Given the description of an element on the screen output the (x, y) to click on. 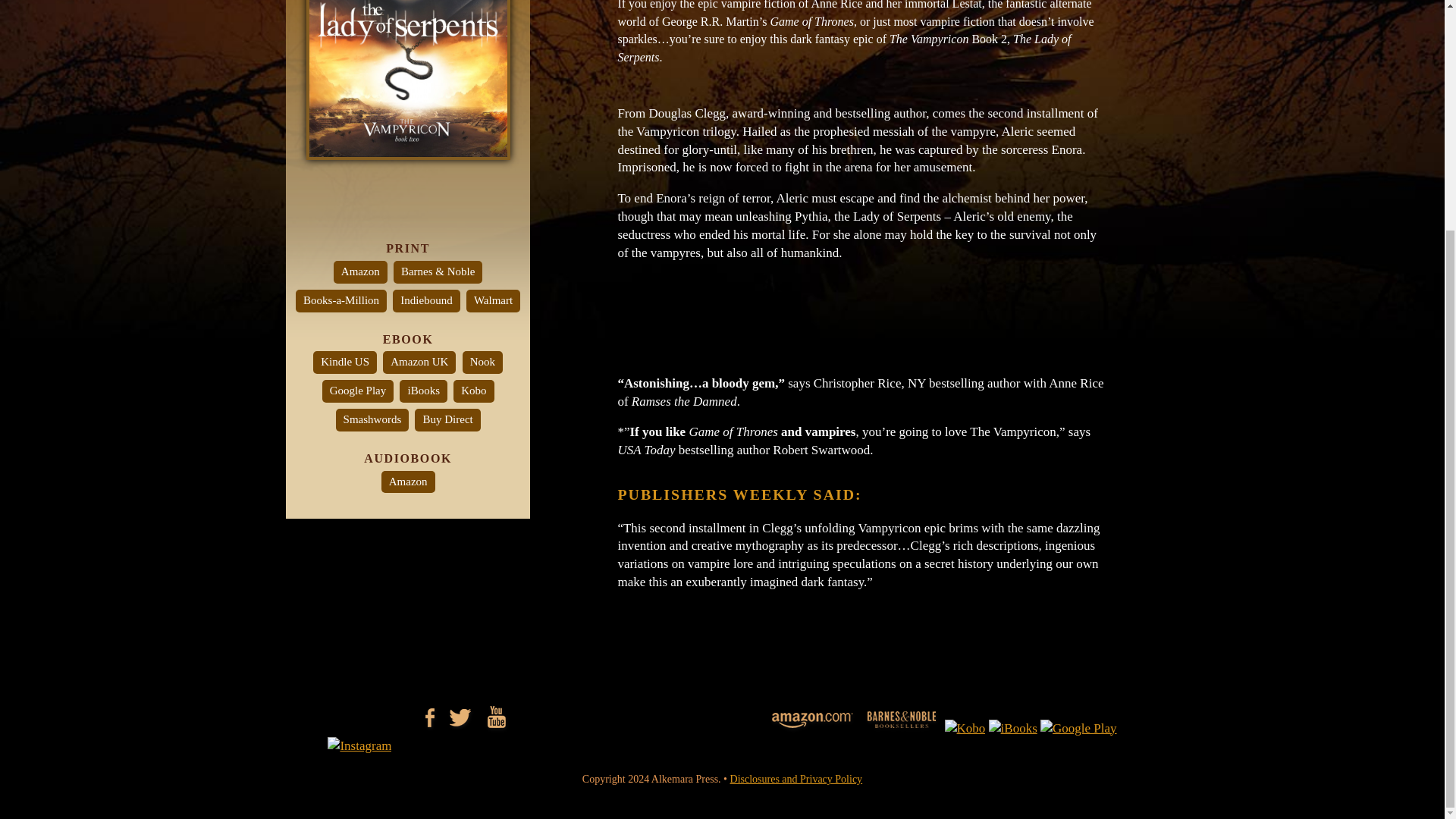
Buy Direct (447, 419)
Smashwords (372, 419)
Books-a-Million (341, 300)
Walmart (492, 300)
Indiebound (426, 300)
Google Play (357, 391)
Kobo (472, 391)
Disclosures and Privacy Policy (796, 778)
Amazon (360, 272)
Amazon (408, 481)
iBooks (422, 391)
Amazon UK (418, 362)
Nook (482, 362)
Kindle US (345, 362)
